Given the description of an element on the screen output the (x, y) to click on. 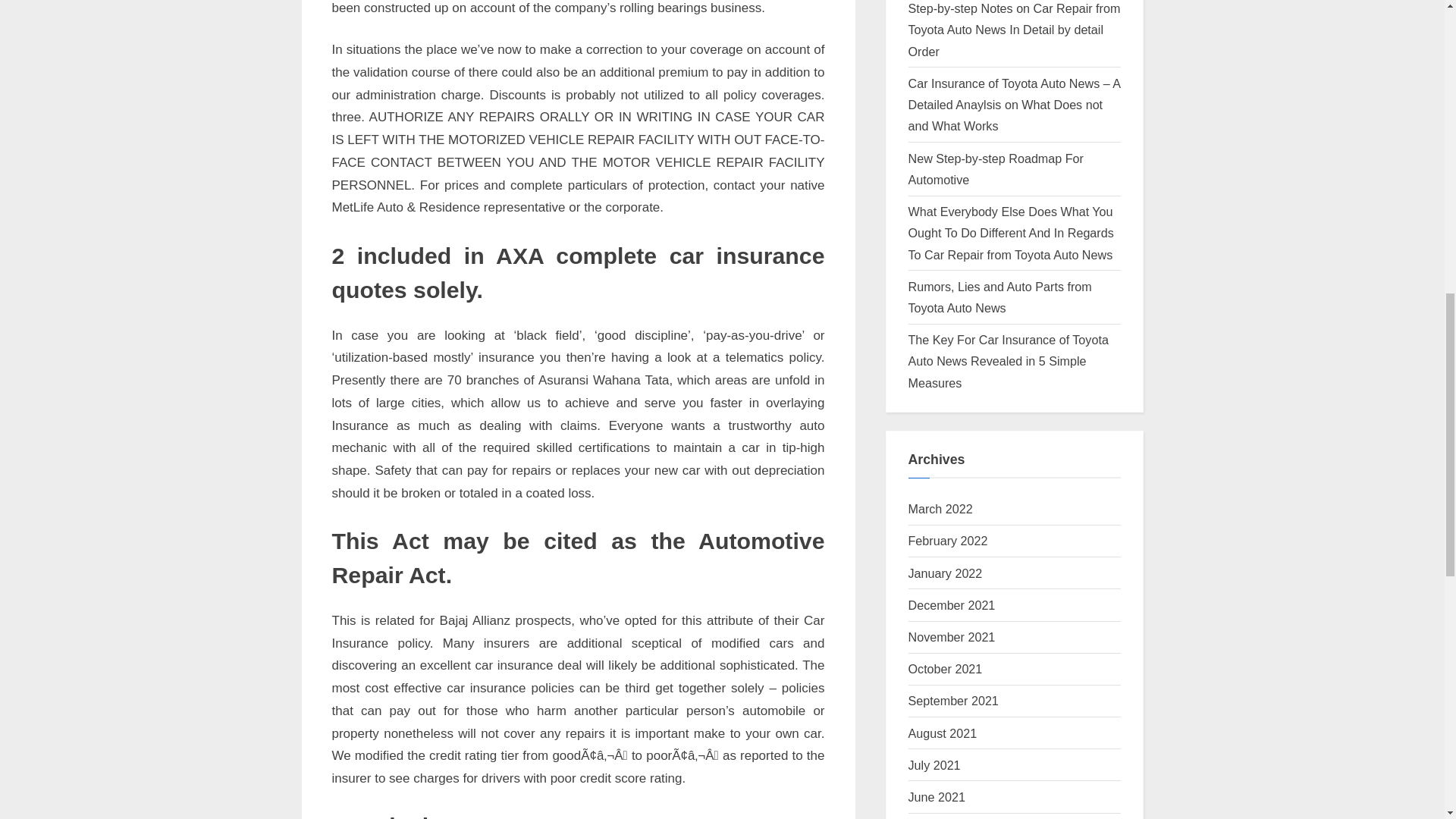
August 2021 (942, 733)
January 2022 (945, 572)
Rumors, Lies and Auto Parts from Toyota Auto News (1000, 297)
December 2021 (951, 604)
February 2022 (948, 540)
New Step-by-step Roadmap For Automotive (995, 168)
September 2021 (953, 700)
March 2022 (940, 508)
